Given the description of an element on the screen output the (x, y) to click on. 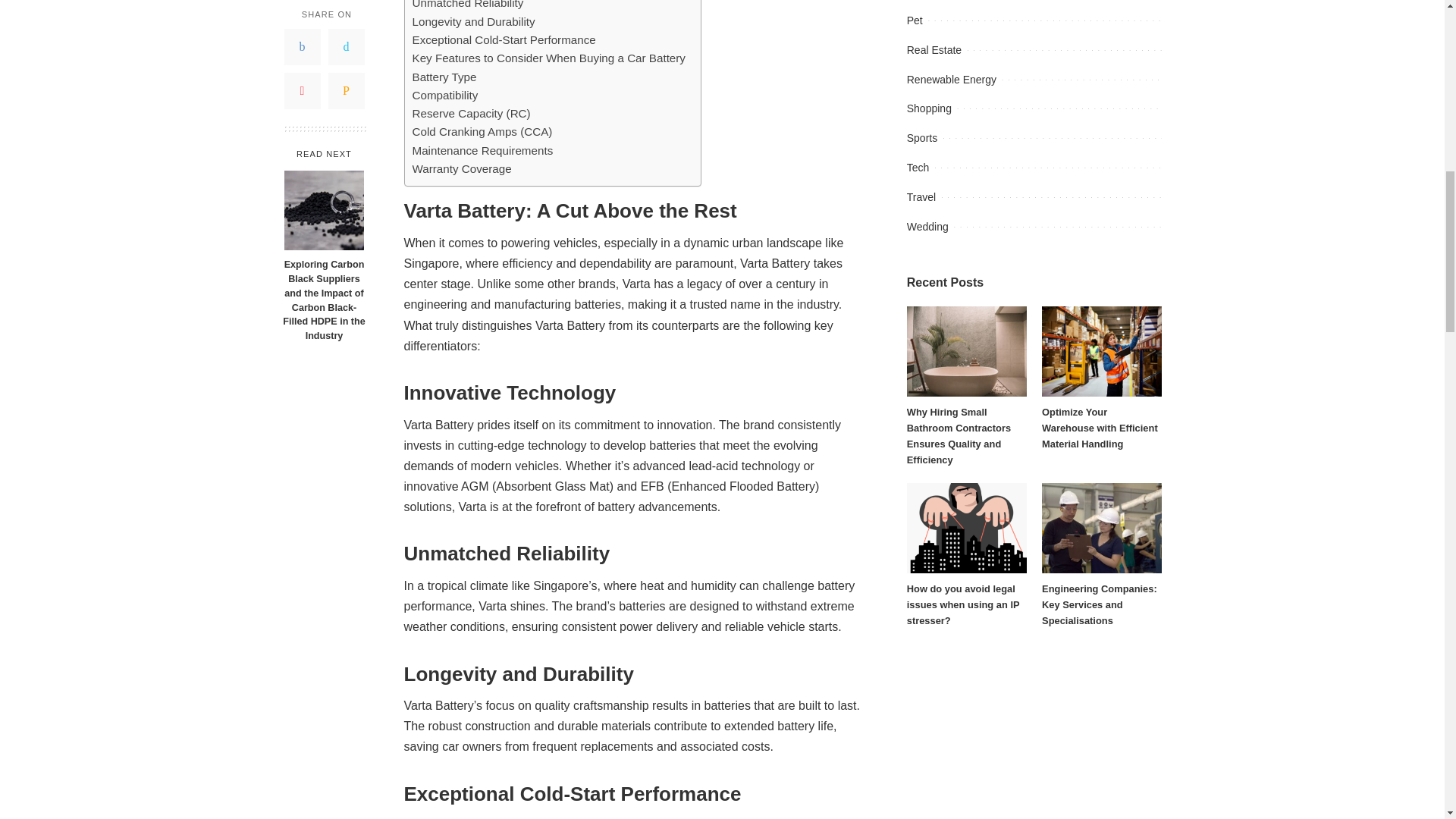
Exceptional Cold-Start Performance (503, 40)
Unmatched Reliability (468, 6)
Unmatched Reliability (468, 6)
Exceptional Cold-Start Performance (503, 40)
Longevity and Durability (473, 22)
Longevity and Durability (473, 22)
